Given the description of an element on the screen output the (x, y) to click on. 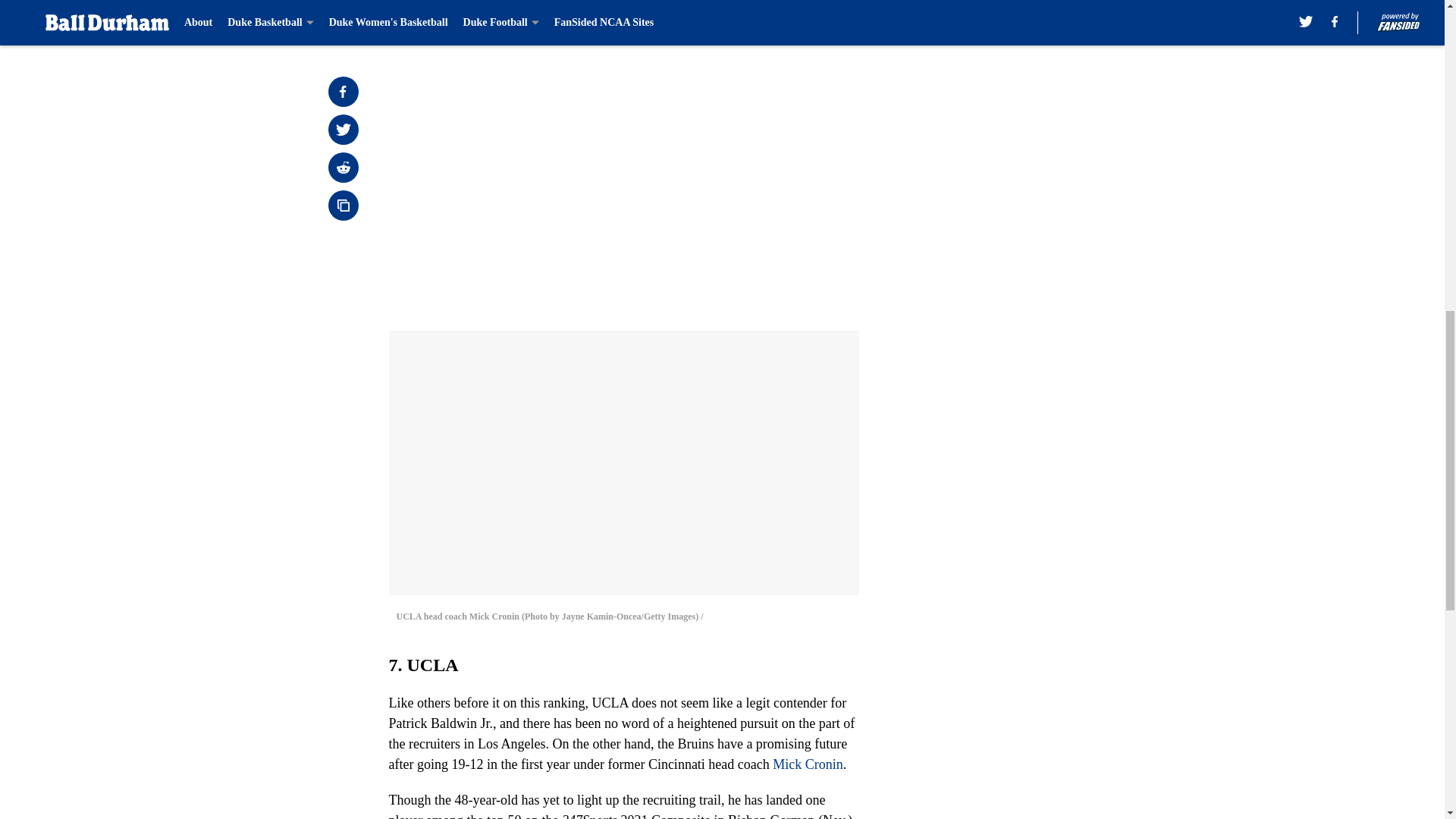
Next (813, 20)
Mick Cronin (808, 764)
Prev (433, 20)
